Given the description of an element on the screen output the (x, y) to click on. 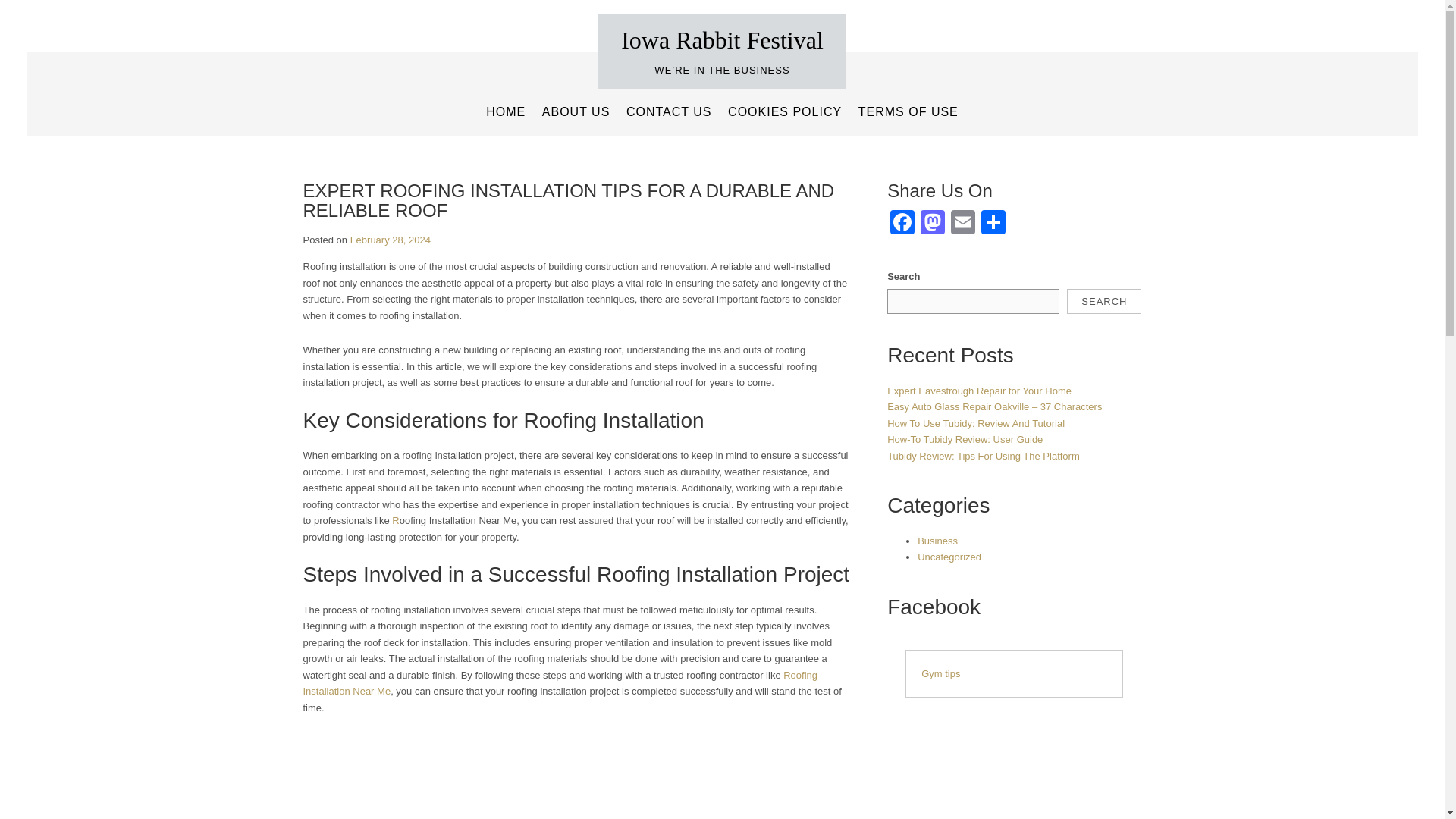
Facebook (901, 223)
COOKIES POLICY (784, 112)
Gym tips (940, 673)
HOME (505, 112)
Mastodon (932, 223)
Expert Eavestrough Repair for Your Home (978, 390)
How To Use Tubidy: Review And Tutorial (975, 423)
ABOUT US (576, 112)
TERMS OF USE (908, 112)
